Given the description of an element on the screen output the (x, y) to click on. 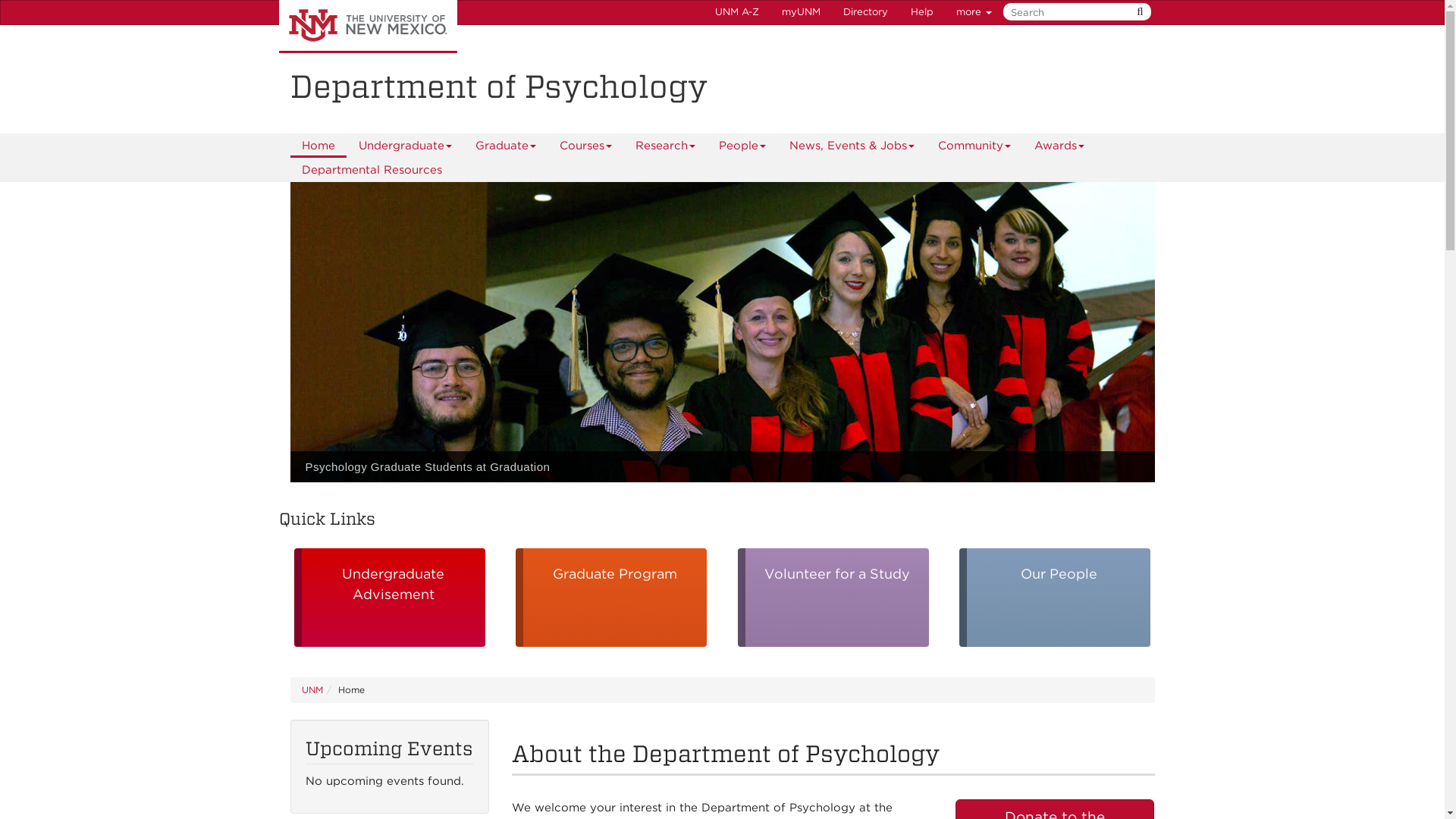
input search query here (1073, 12)
myUNM (800, 11)
Undergraduate  (405, 145)
The University of New Mexico (368, 26)
UNM A to Z (736, 11)
Home (317, 145)
Help (921, 11)
Directory (865, 11)
Directory (865, 11)
Department of Psychology (721, 85)
Graduate  (505, 145)
myUNM (800, 11)
UNM A-Z (736, 11)
Home (317, 145)
more (973, 11)
